Given the description of an element on the screen output the (x, y) to click on. 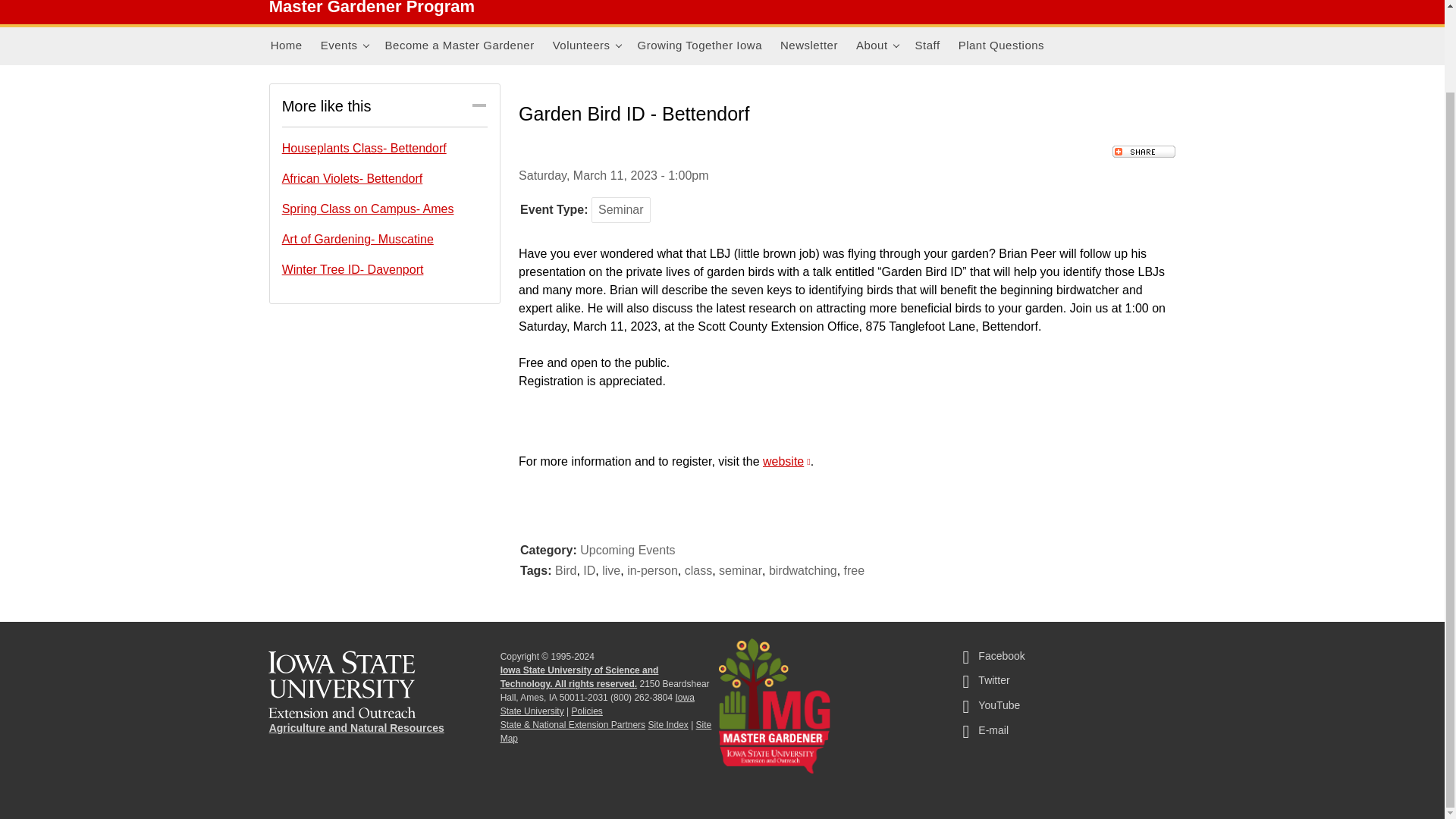
live (611, 570)
Home (286, 46)
ID (589, 570)
Art of Gardening- Muscatine (384, 239)
class (697, 570)
birdwatching (802, 570)
Staff (927, 46)
Houseplants Class- Bettendorf (384, 148)
Plant Questions (1000, 46)
free (854, 570)
in-person (652, 570)
website (786, 461)
Master Gardener Program (371, 7)
Growing Together Iowa (699, 46)
